Given the description of an element on the screen output the (x, y) to click on. 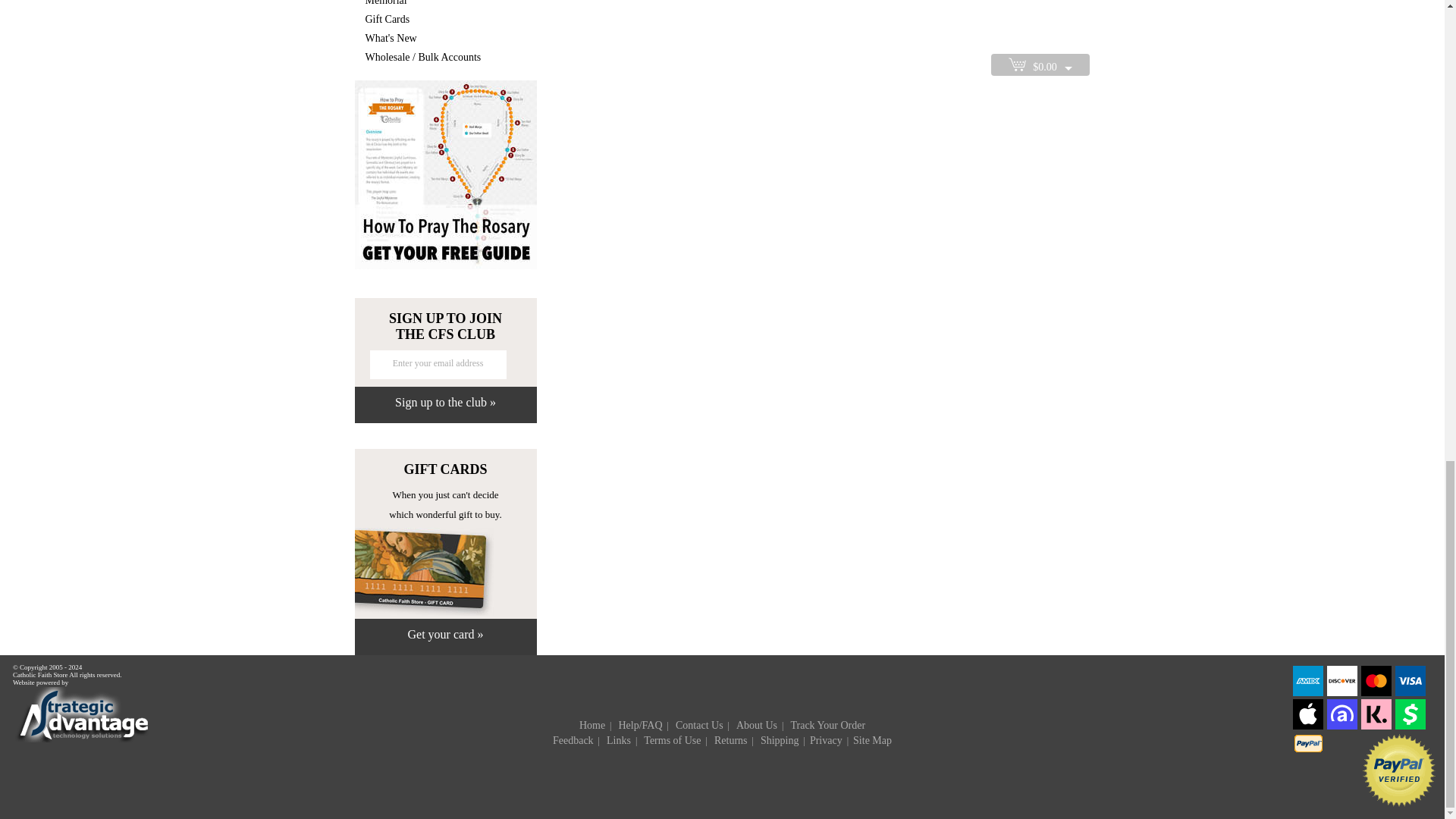
Klarna (1376, 726)
Cash App (1409, 726)
Website Powered by Strategic Advantage (81, 738)
Official PayPal Seal (1399, 805)
Discover (1341, 692)
Apple Pay (1307, 726)
Mastercard (1376, 692)
Amex (1307, 692)
VISA (1409, 692)
Affirm (1341, 726)
